Given the description of an element on the screen output the (x, y) to click on. 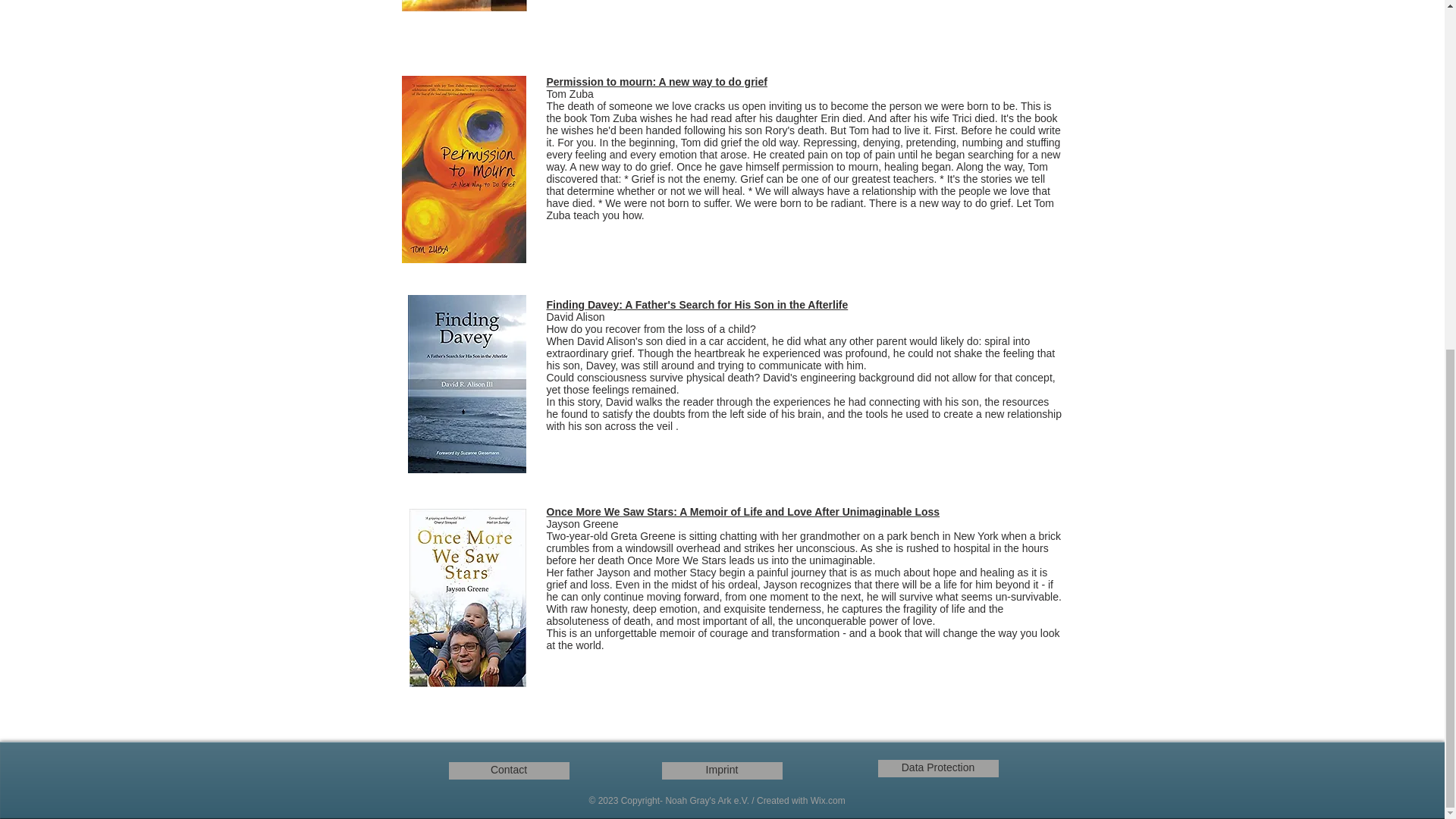
Permission to mourn: A new way to do grief (656, 81)
Imprint (721, 770)
Wix.com (827, 800)
Data Protection (937, 768)
Contact (508, 770)
